Given the description of an element on the screen output the (x, y) to click on. 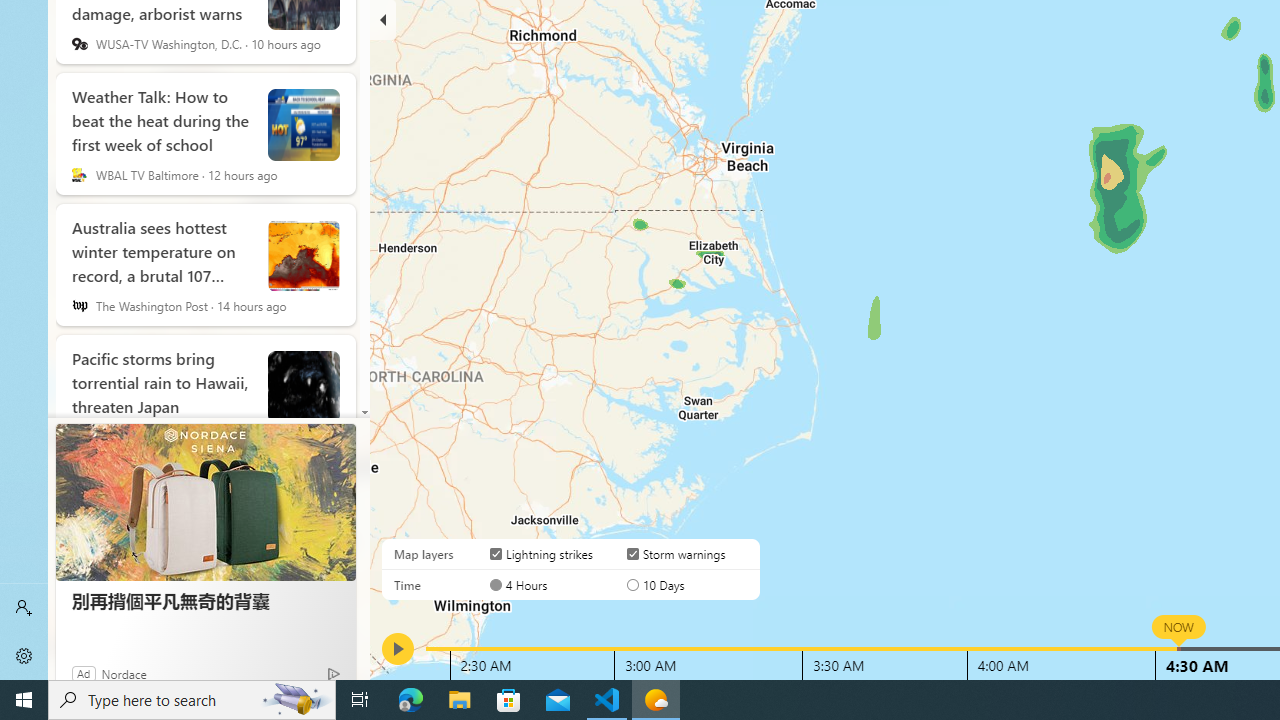
Microsoft Edge (411, 699)
Settings (24, 655)
Sign in (24, 607)
Task View (359, 699)
Microsoft Store (509, 699)
File Explorer (460, 699)
Weather - 1 running window (656, 699)
Start (24, 699)
Search highlights icon opens search home window (295, 699)
Type here to search (191, 699)
Visual Studio Code - 1 running window (607, 699)
